Given the description of an element on the screen output the (x, y) to click on. 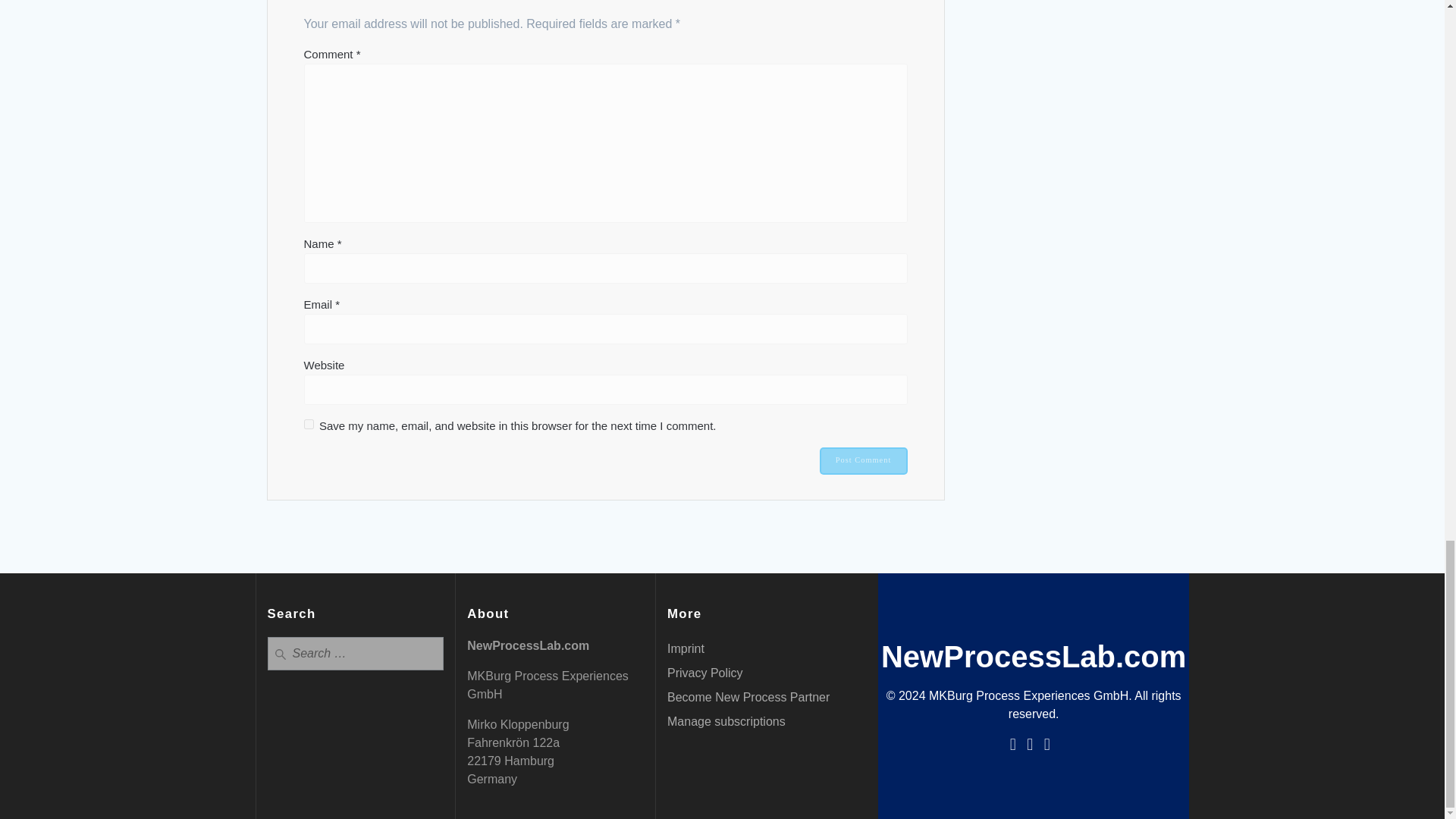
Post Comment (863, 461)
yes (307, 424)
